Given the description of an element on the screen output the (x, y) to click on. 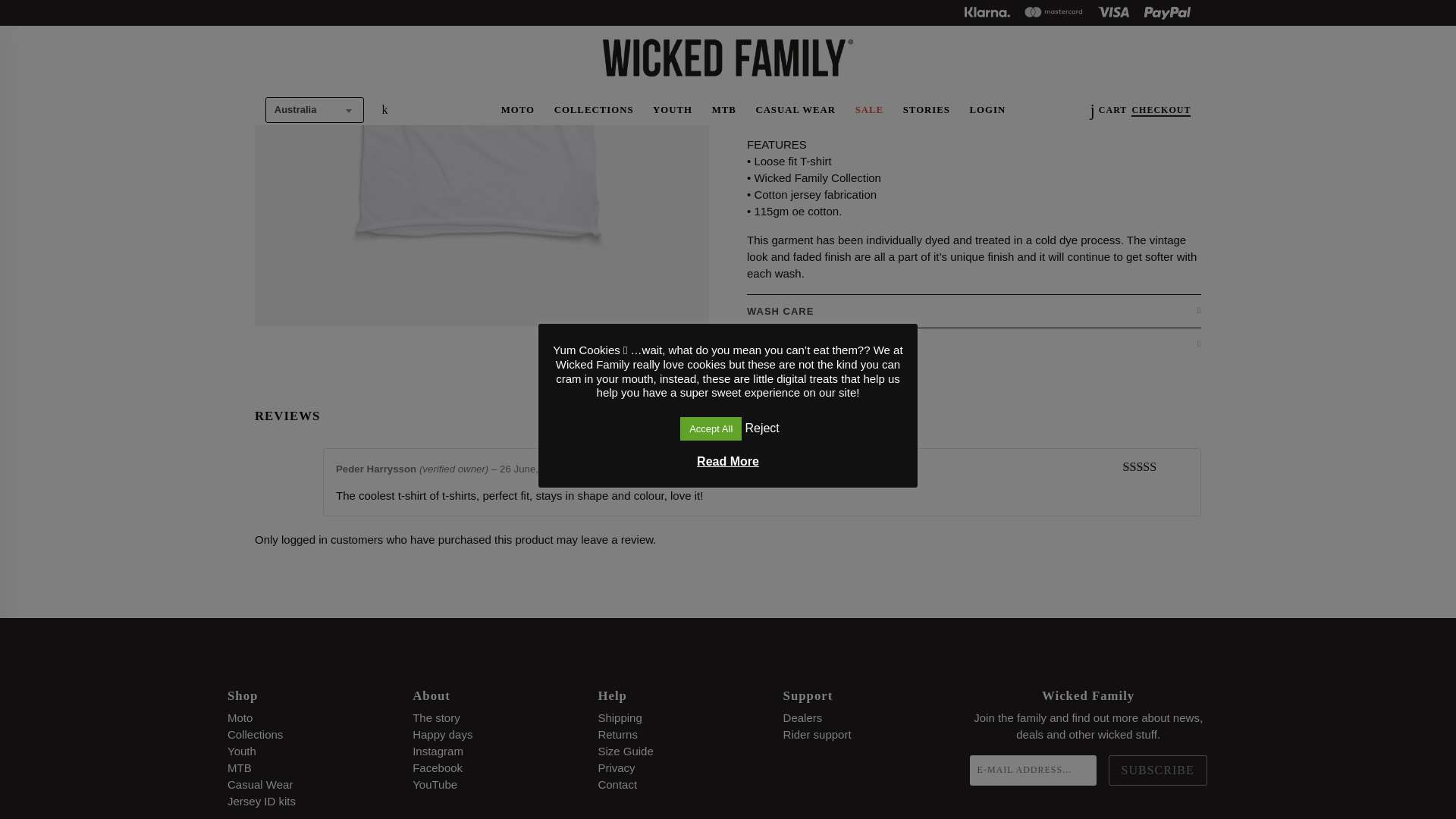
1 (768, 34)
